Given the description of an element on the screen output the (x, y) to click on. 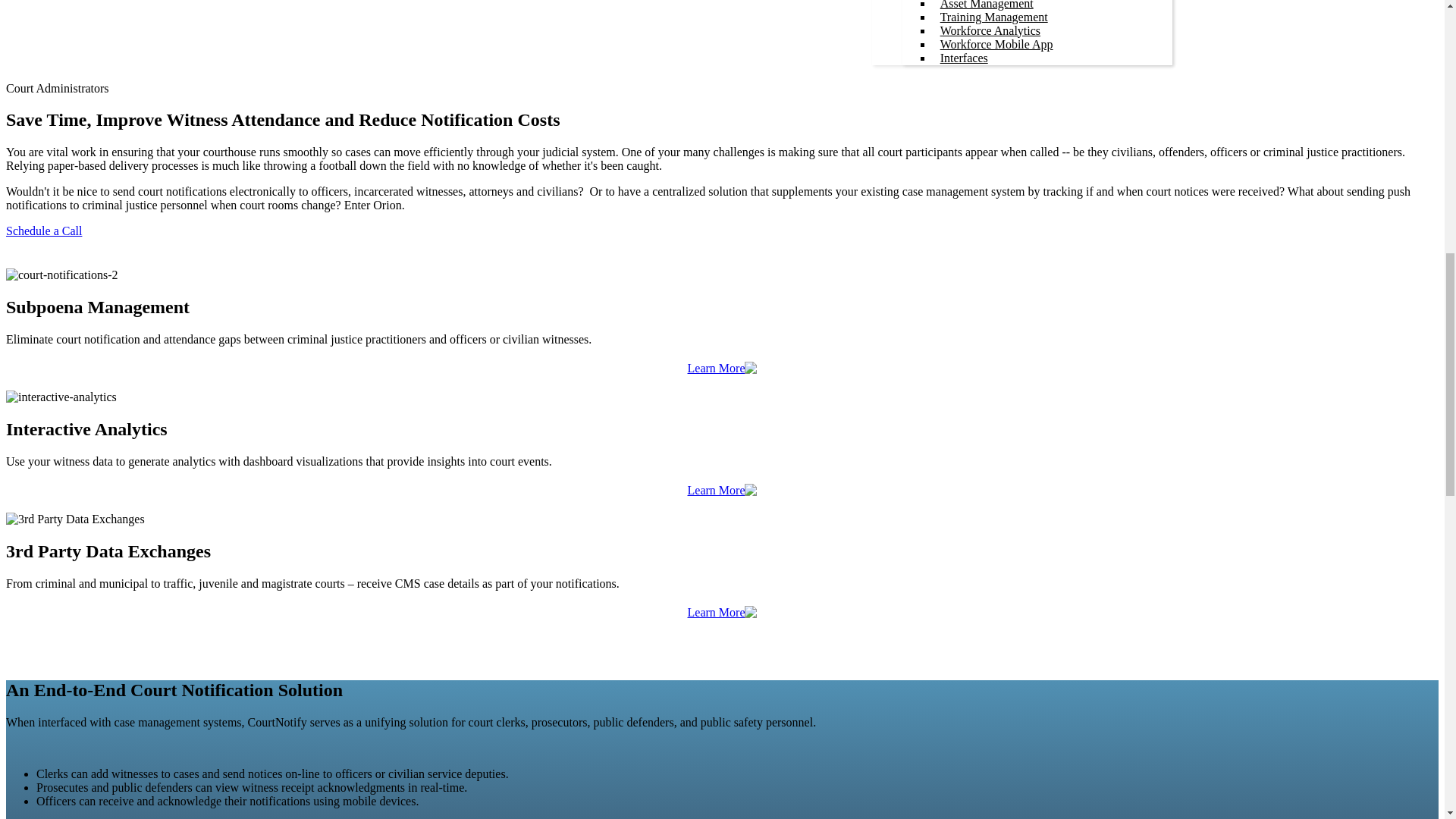
Subpoena Management (997, 2)
